Given the description of an element on the screen output the (x, y) to click on. 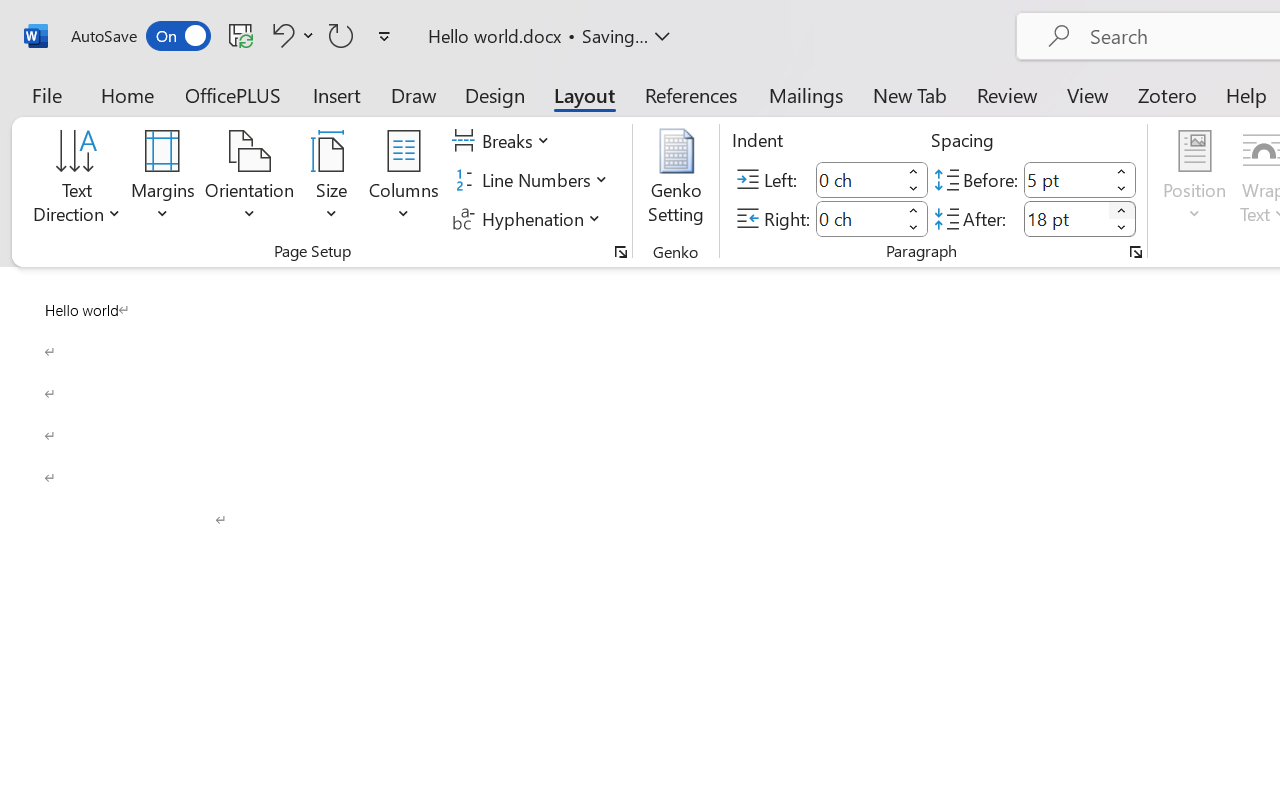
Zotero (1166, 94)
Indent Right (858, 218)
More Options (308, 35)
Insert (337, 94)
Customize Quick Access Toolbar (384, 35)
Review (1007, 94)
Save (241, 35)
Home (127, 94)
Position (1194, 179)
